Given the description of an element on the screen output the (x, y) to click on. 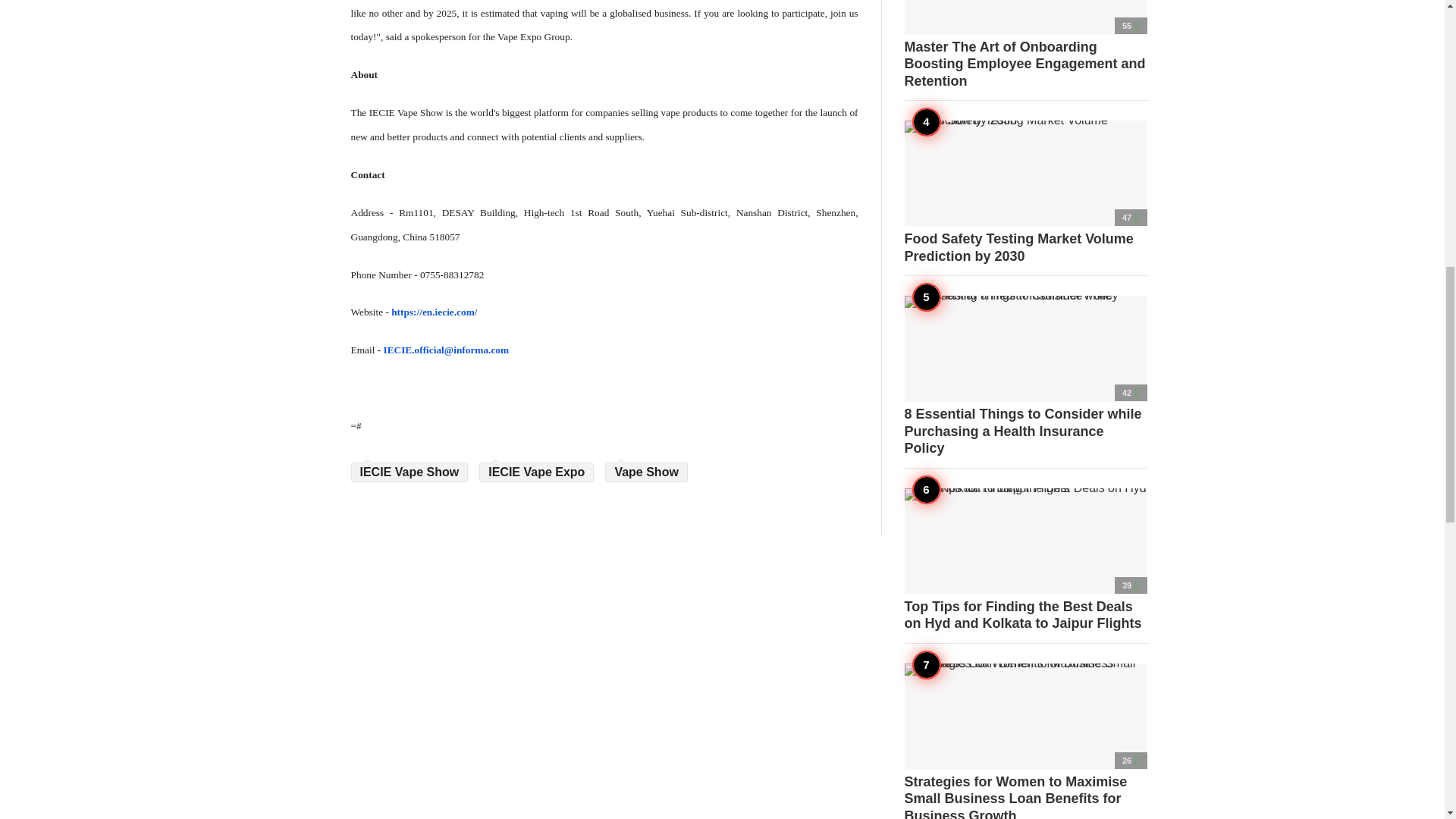
Food Safety Testing Market Volume Prediction by 2030 (1025, 192)
